Given the description of an element on the screen output the (x, y) to click on. 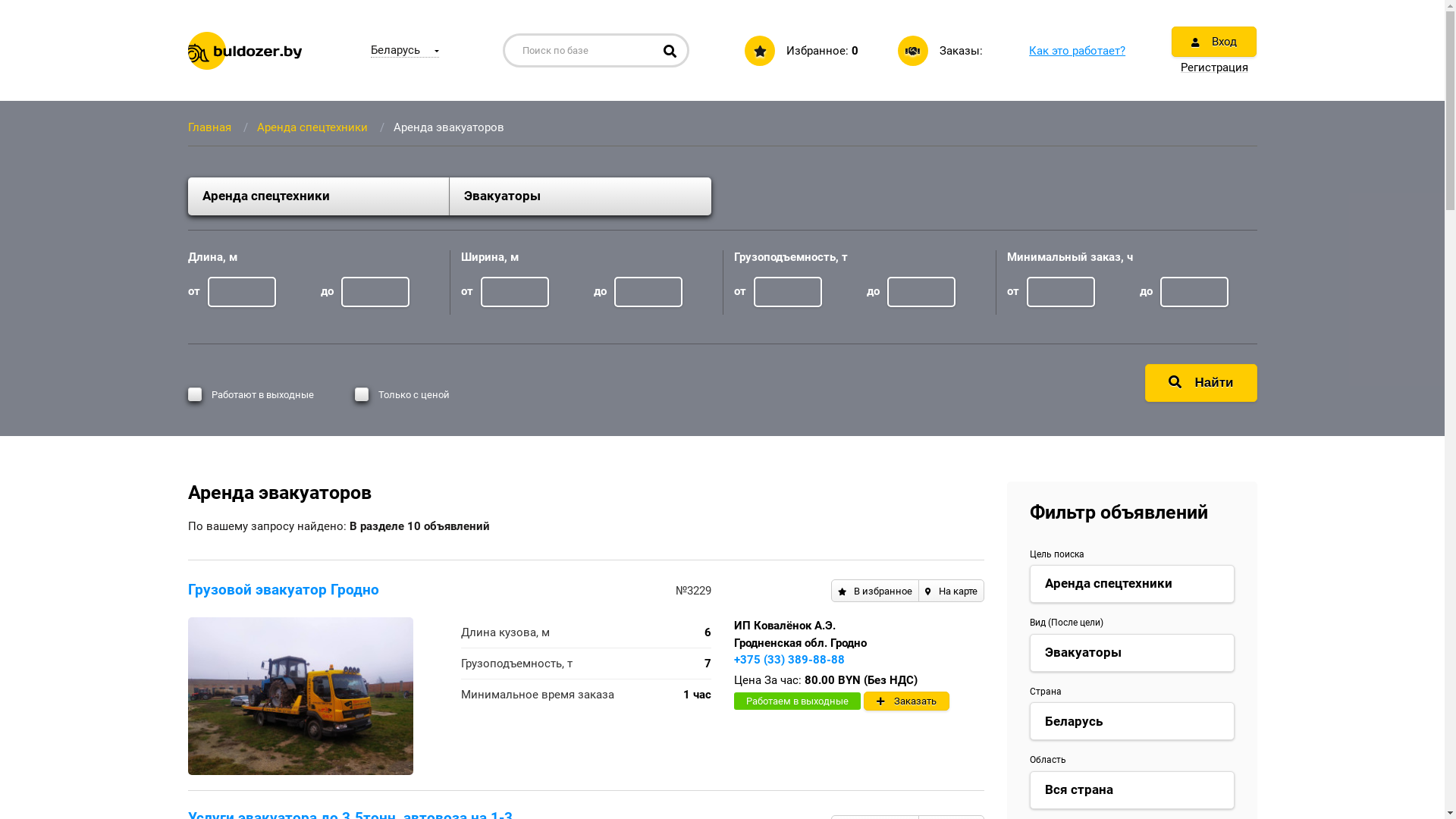
+375 (33) 389-88-88 Element type: text (789, 659)
